Given the description of an element on the screen output the (x, y) to click on. 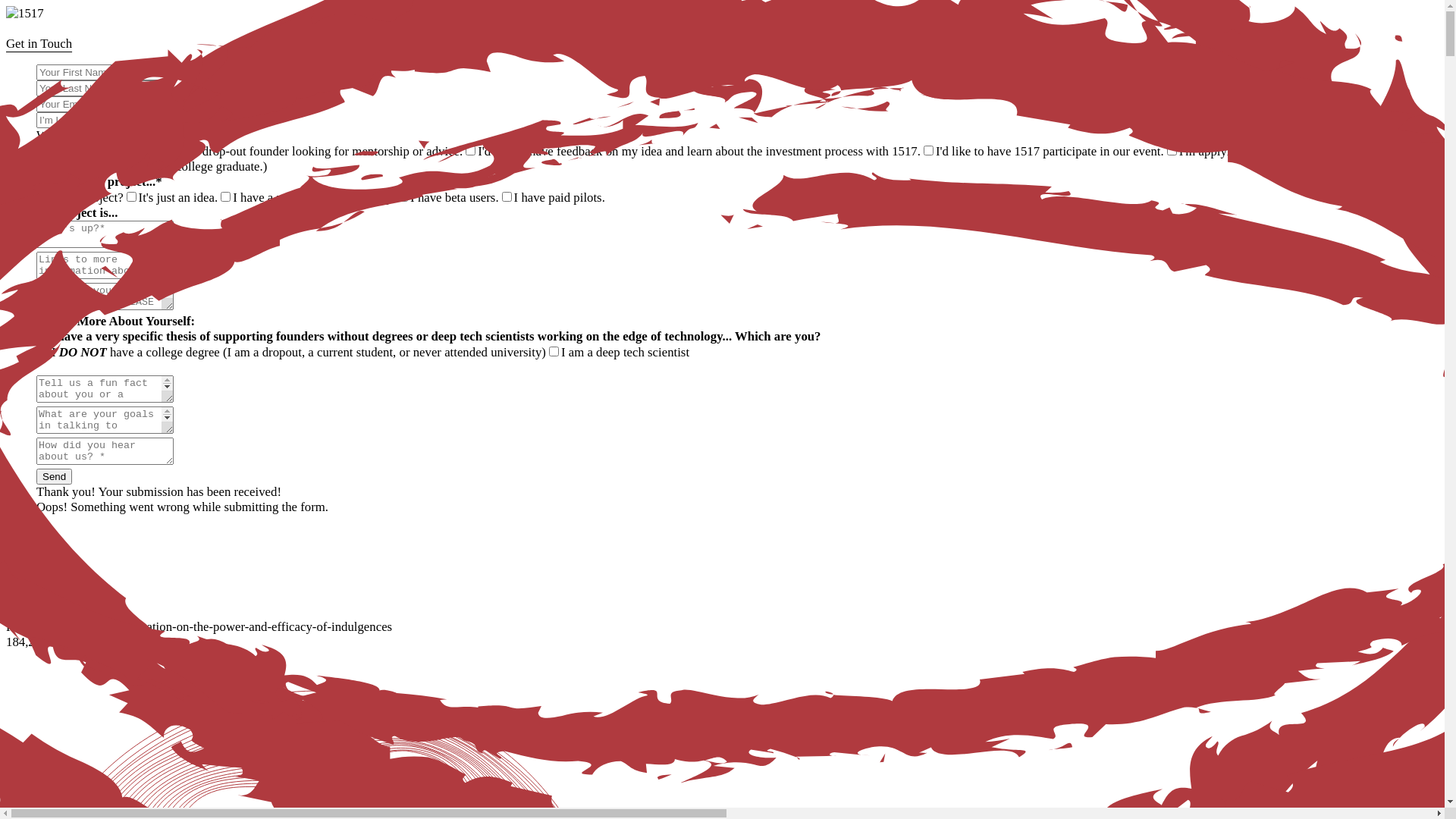
The Invisible College Element type: text (1337, 151)
Send Element type: text (54, 476)
Get in Touch Element type: text (722, 51)
